Given the description of an element on the screen output the (x, y) to click on. 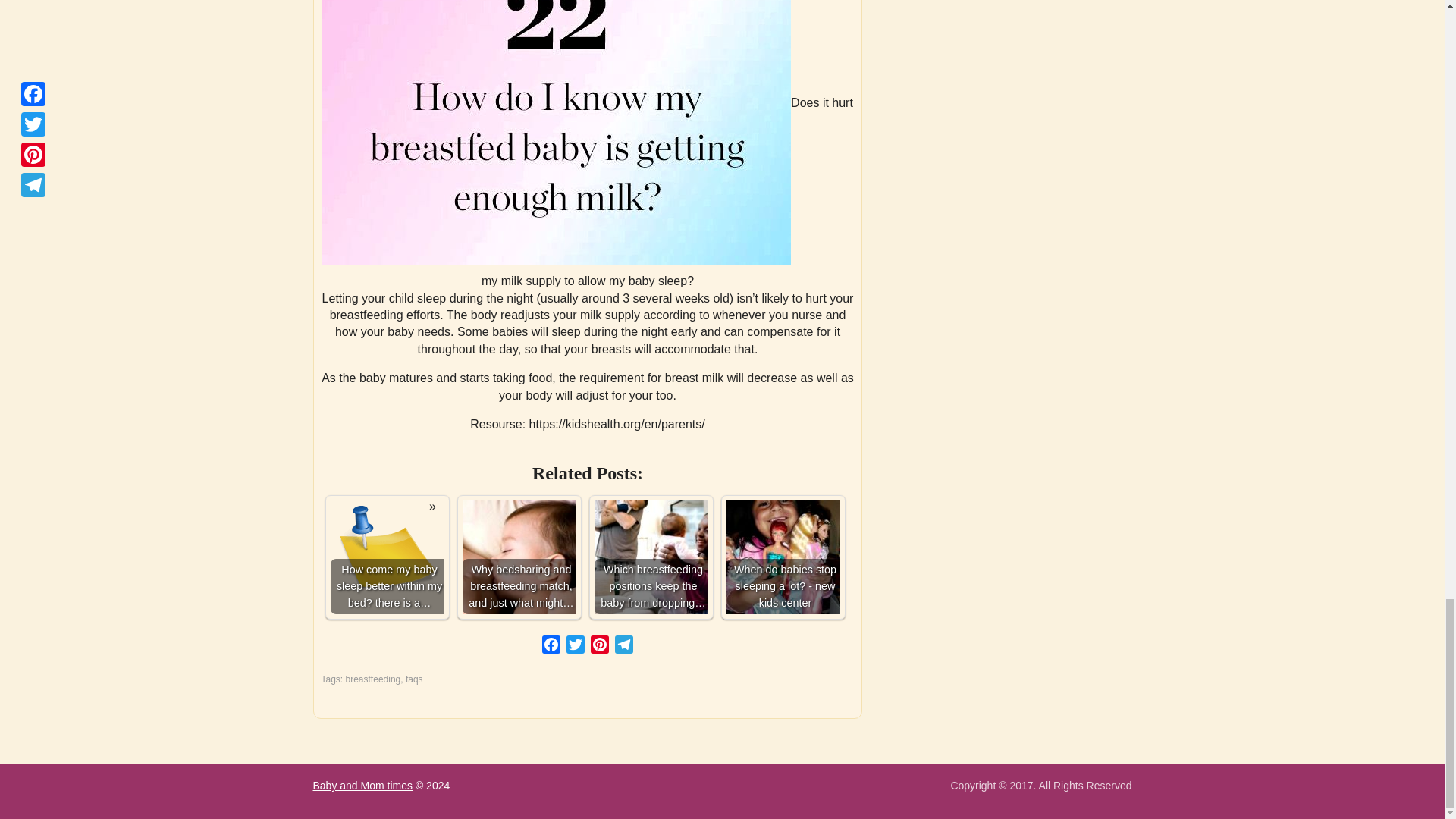
Twitter (575, 647)
Facebook (550, 647)
breastfeeding (373, 679)
Facebook (550, 647)
Twitter (575, 647)
Pinterest (599, 647)
Telegram (623, 647)
